Given the description of an element on the screen output the (x, y) to click on. 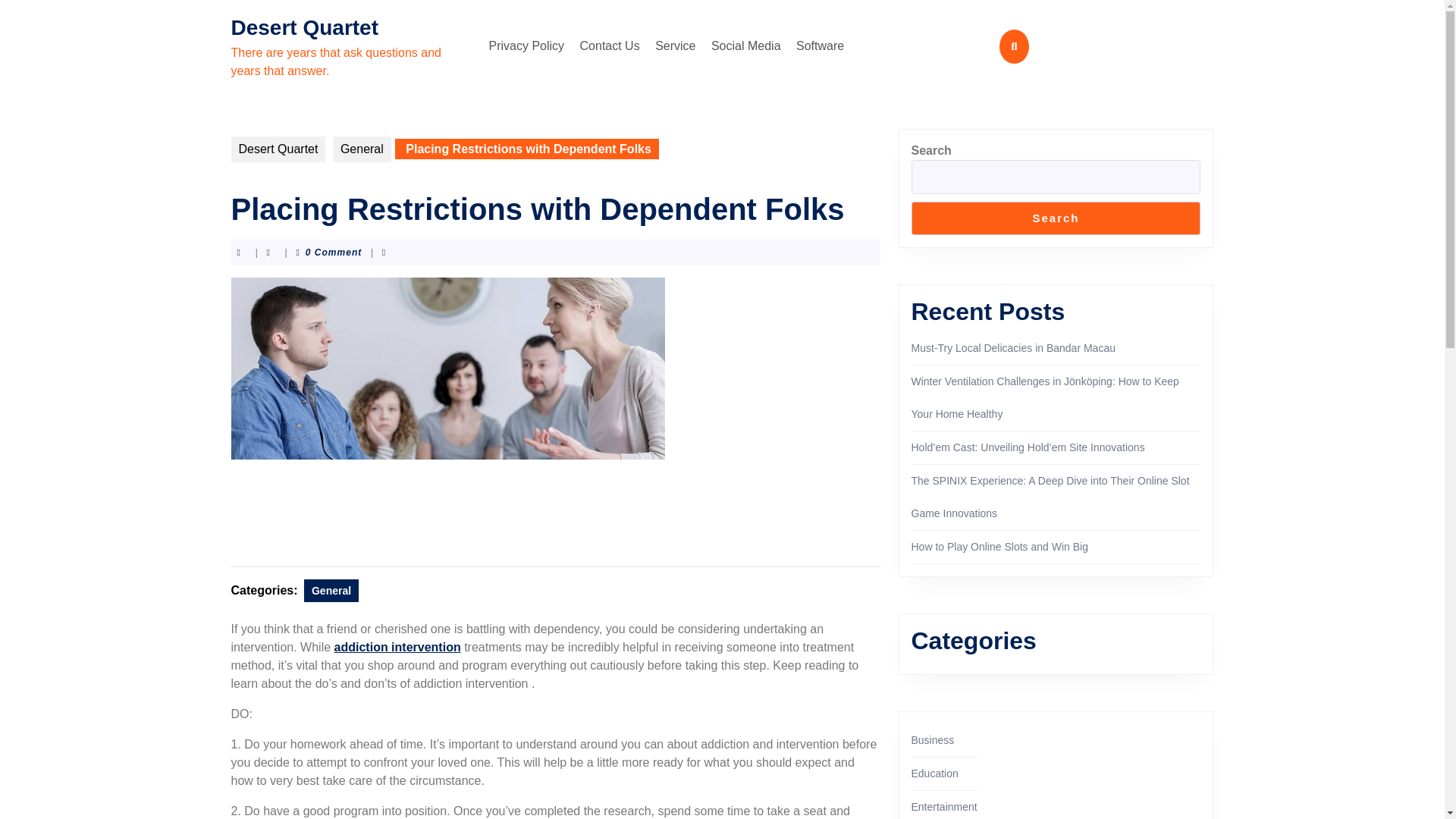
Desert Quartet (277, 149)
Desert Quartet (304, 27)
Business (933, 739)
Social Media (745, 46)
Search (1056, 218)
Must-Try Local Delicacies in Bandar Macau (1013, 347)
addiction intervention (397, 646)
Software (820, 46)
Service (675, 46)
Education (934, 773)
